Given the description of an element on the screen output the (x, y) to click on. 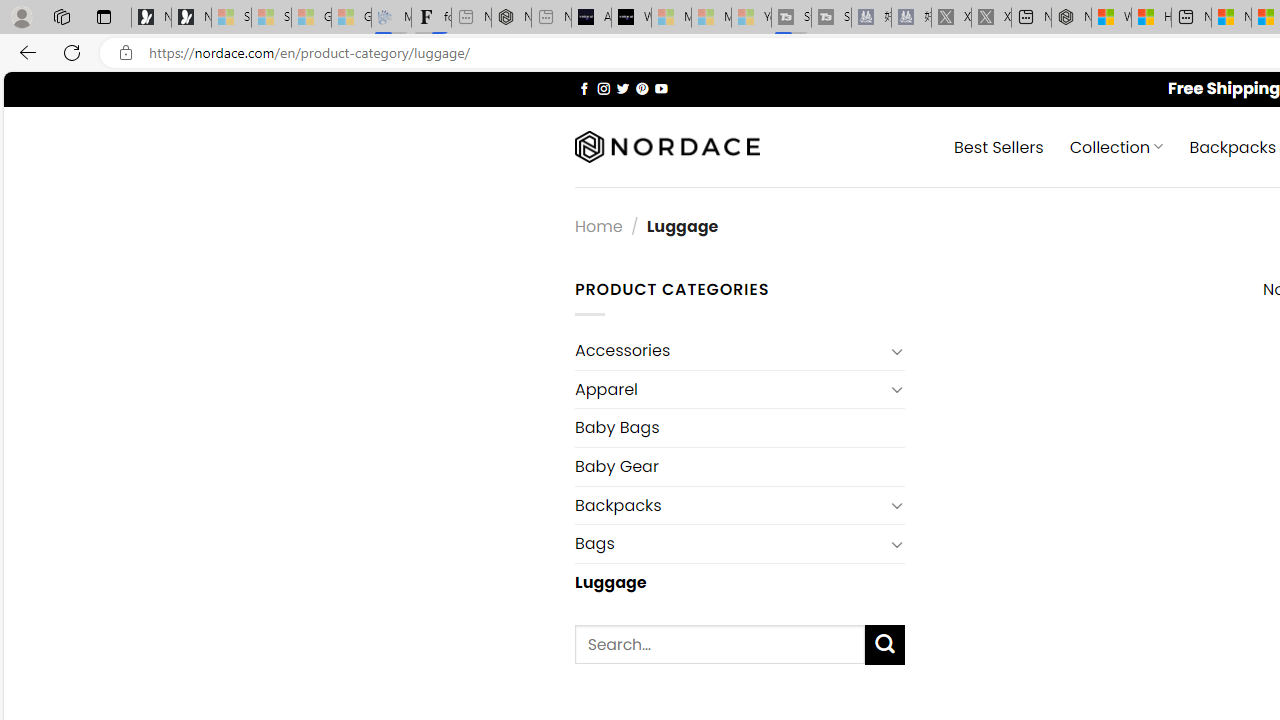
Baby Gear (739, 465)
What's the best AI voice generator? - voice.ai (631, 17)
Baby Bags (739, 427)
Huge shark washes ashore at New York City beach | Watch (1151, 17)
Follow on YouTube (661, 88)
Microsoft Start - Sleeping (711, 17)
Nordace - My Account (1071, 17)
 Best Sellers (998, 146)
